Given the description of an element on the screen output the (x, y) to click on. 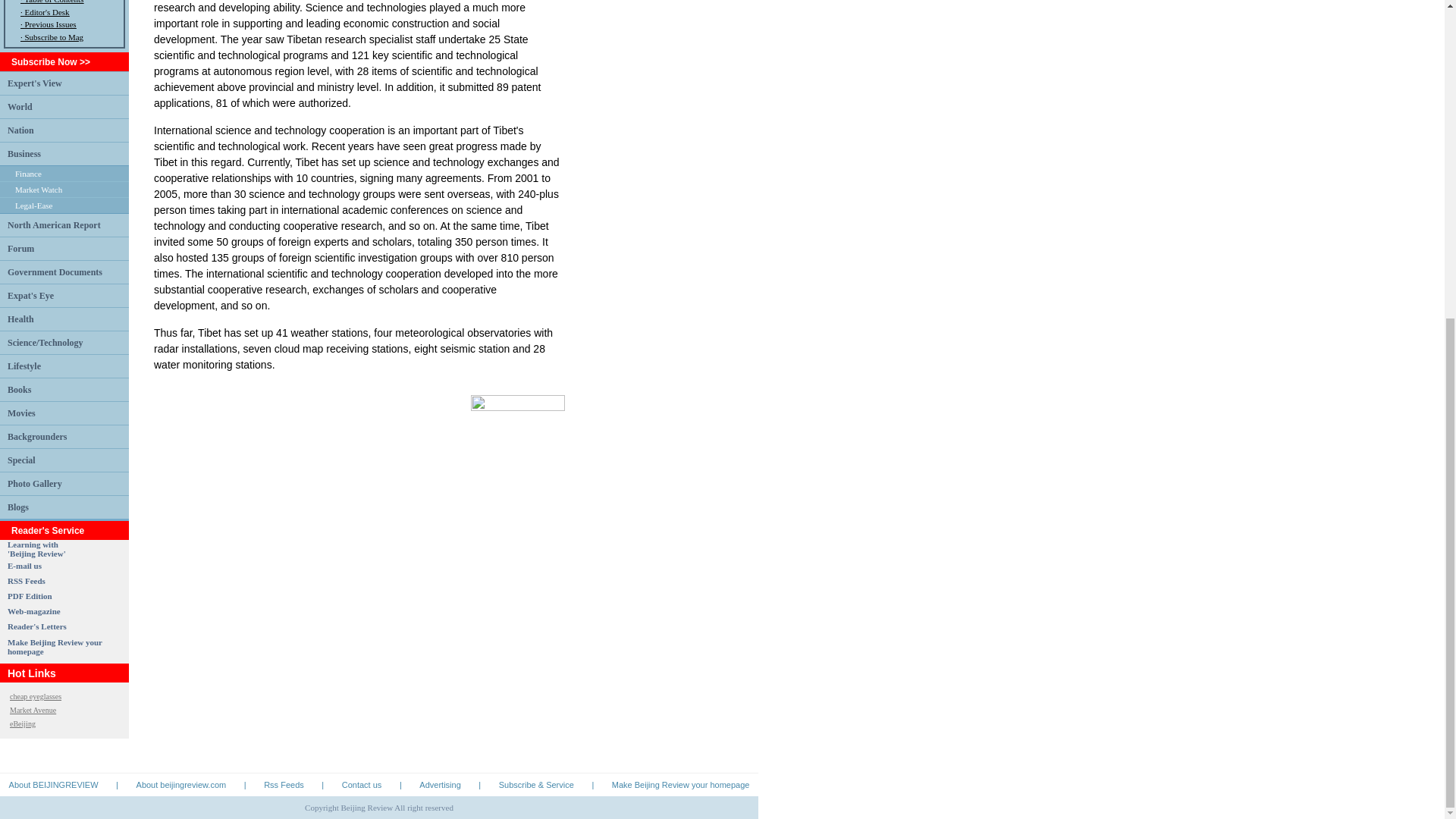
cheap eyeglasses (35, 696)
Reader's Letters (36, 625)
Photo Gallery (34, 482)
RSS Feeds (26, 580)
Market Watch (38, 189)
PDF Edition (29, 595)
Finance (36, 548)
Lifestyle (28, 173)
Make Beijing Review your homepage (23, 366)
Health (54, 647)
Legal-Ease (20, 318)
Special (33, 204)
World (20, 460)
Editor's Desk (19, 106)
